Given the description of an element on the screen output the (x, y) to click on. 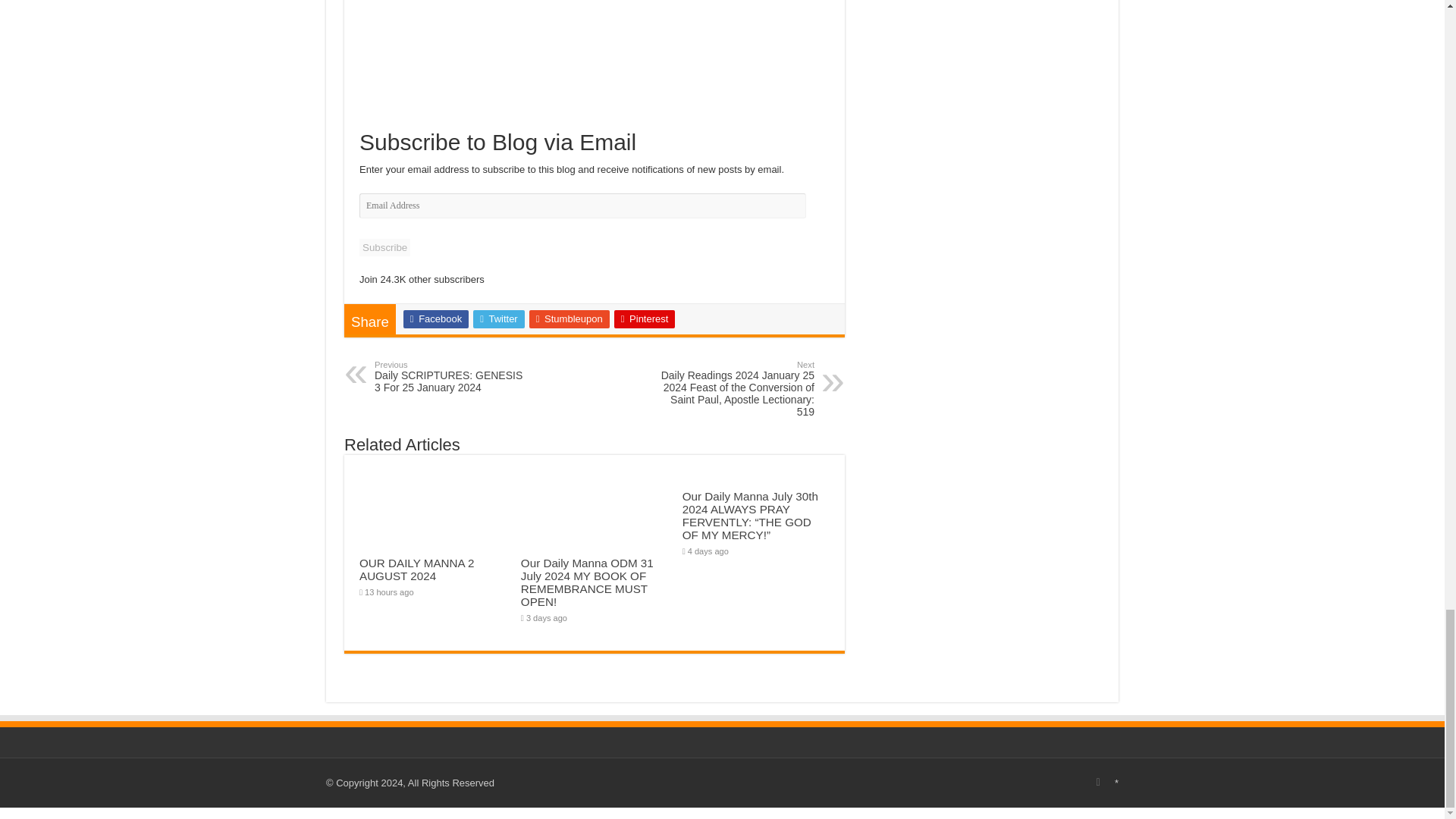
Pinterest (644, 319)
Twitter (498, 319)
Stumbleupon (451, 376)
Facebook (569, 319)
Subscribe (435, 319)
